Given the description of an element on the screen output the (x, y) to click on. 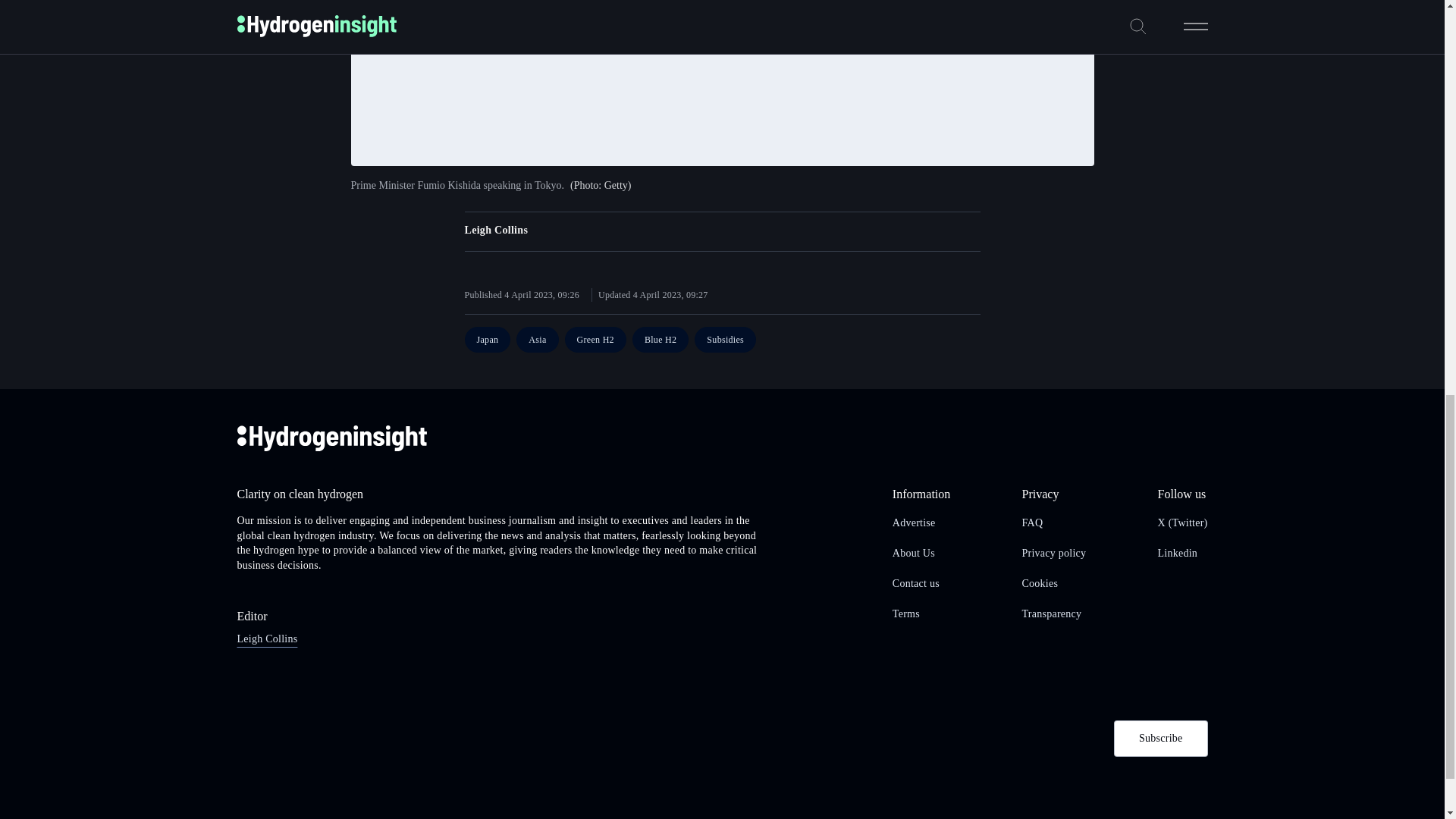
Cookies (1040, 583)
Transparency (1051, 613)
Subsidies (724, 339)
Leigh Collins (266, 638)
Japan (487, 339)
Leigh Collins (495, 229)
Linkedin (1177, 552)
Contact us (915, 583)
Advertise (914, 522)
About Us (913, 552)
